Given the description of an element on the screen output the (x, y) to click on. 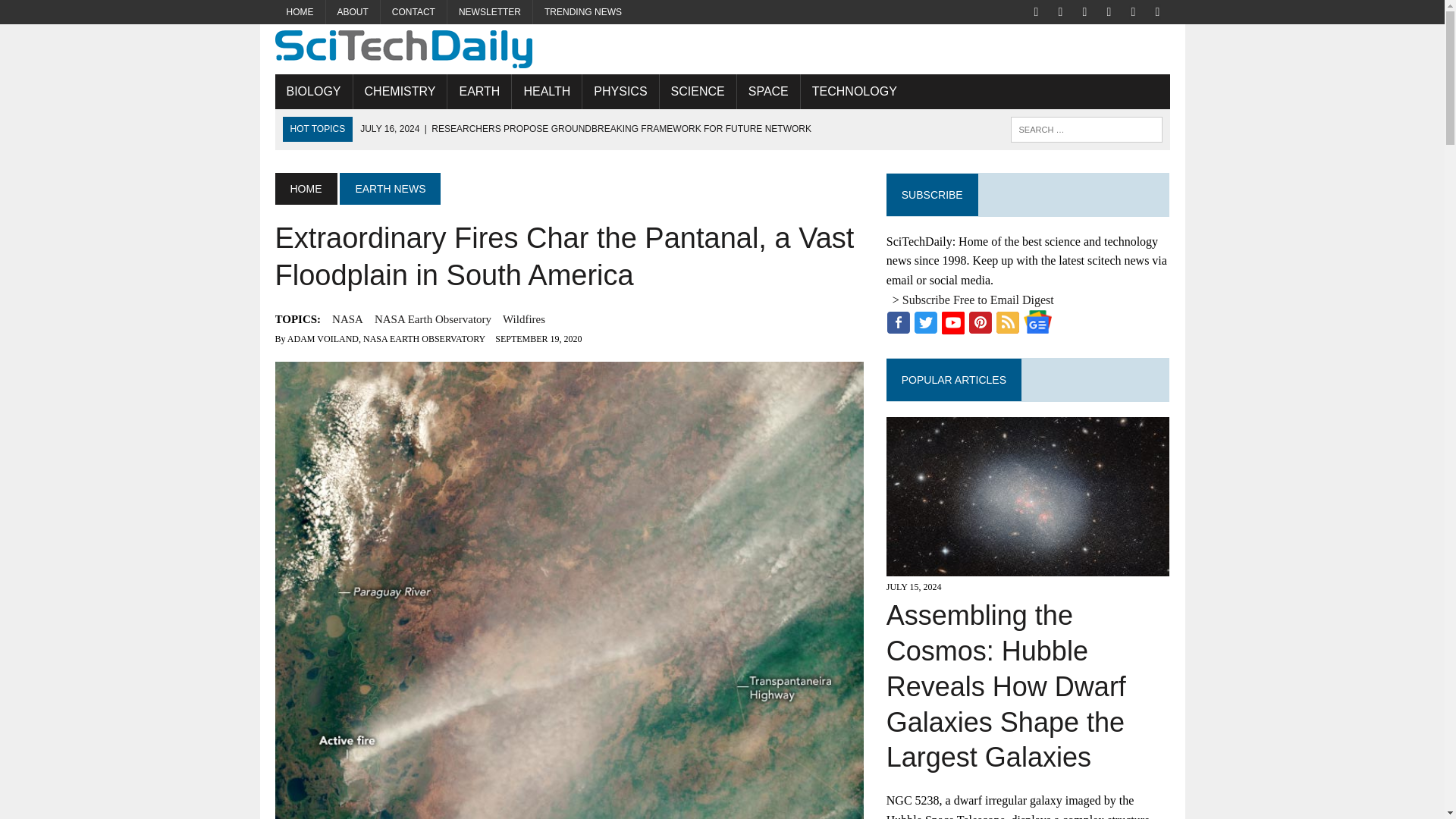
ABOUT (353, 12)
CHEMISTRY (399, 91)
PHYSICS (620, 91)
EARTH (478, 91)
NEWSLETTER (489, 12)
SciTechDaily Newsletter (489, 12)
HEALTH (546, 91)
SCIENCE (697, 91)
HOME (299, 12)
Contact SciTechDaily.com (413, 12)
SciTechDaily (722, 48)
TRENDING NEWS (582, 12)
EARTH NEWS (390, 188)
CONTACT (413, 12)
